Given the description of an element on the screen output the (x, y) to click on. 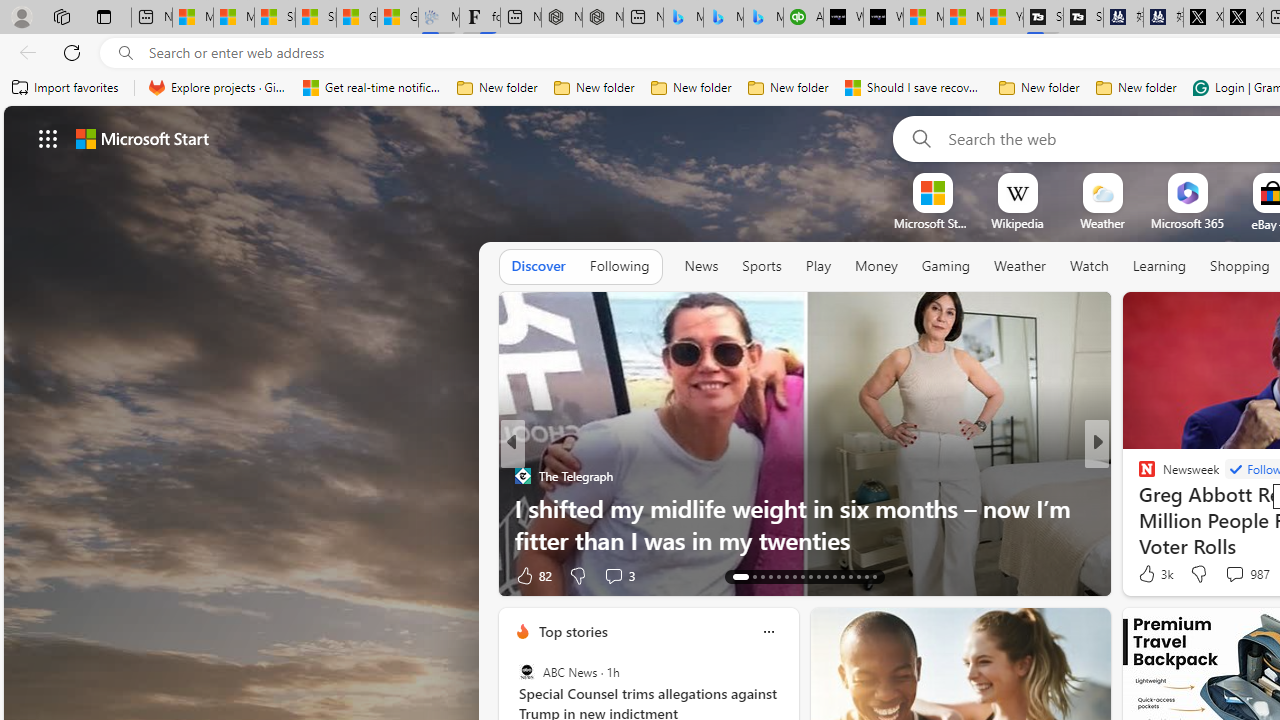
AutomationID: tab-22 (818, 576)
AutomationID: tab-15 (761, 576)
ABC News (526, 672)
158 Like (1151, 574)
View comments 2 Comment (1229, 575)
View comments 1 Comment (1234, 574)
Microsoft start (142, 138)
Accounting Software for Accountants, CPAs and Bookkeepers (803, 17)
View comments 156 Comment (1234, 575)
View comments 987 Comment (1246, 574)
